Given the description of an element on the screen output the (x, y) to click on. 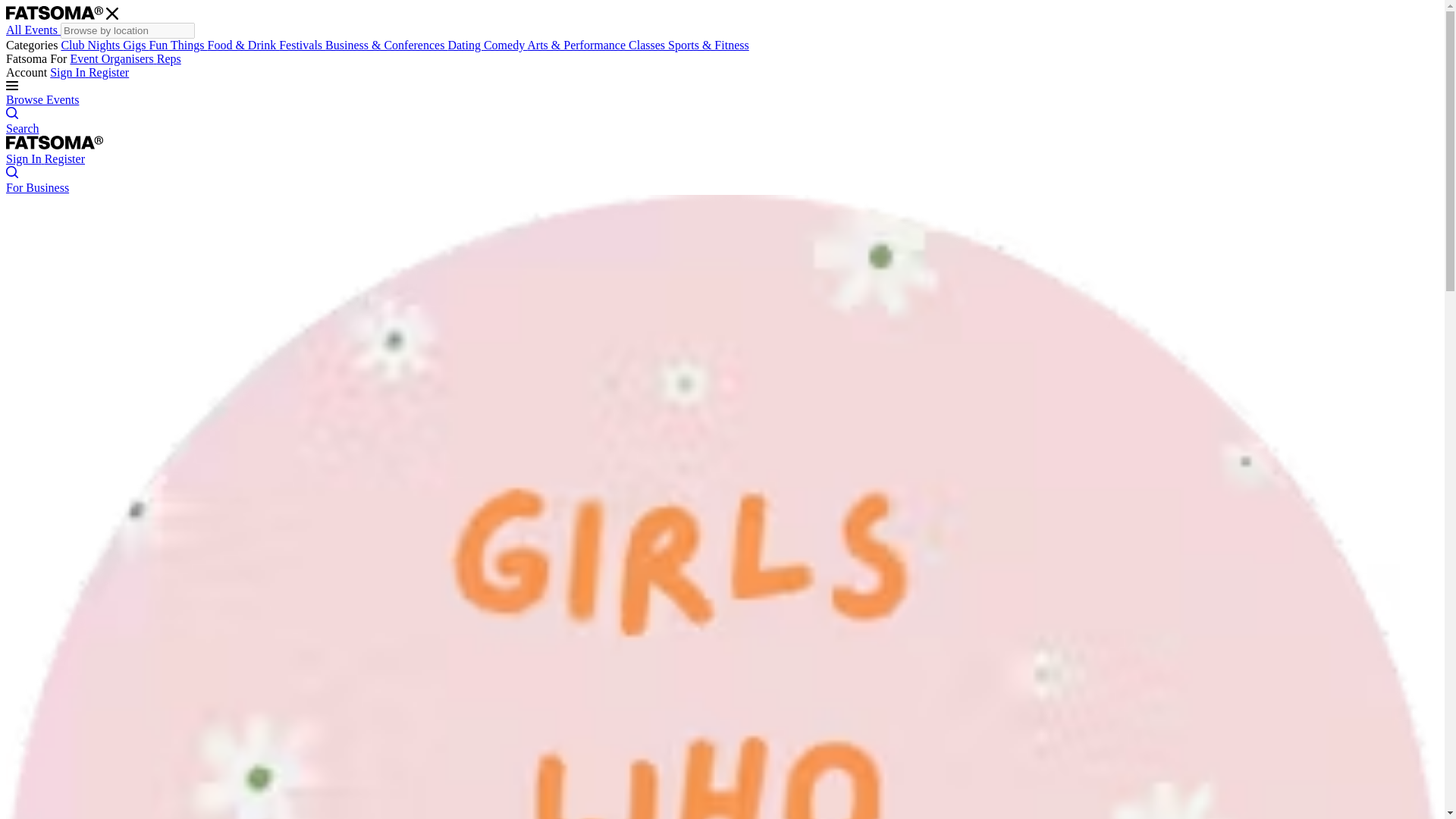
Gigs (135, 44)
Club Nights (91, 44)
Browse Events (41, 99)
Classes (648, 44)
Fatsoma (54, 144)
Fatsoma (54, 142)
Register (108, 72)
Reps (168, 58)
Fatsoma (54, 12)
Sign In (68, 72)
